Given the description of an element on the screen output the (x, y) to click on. 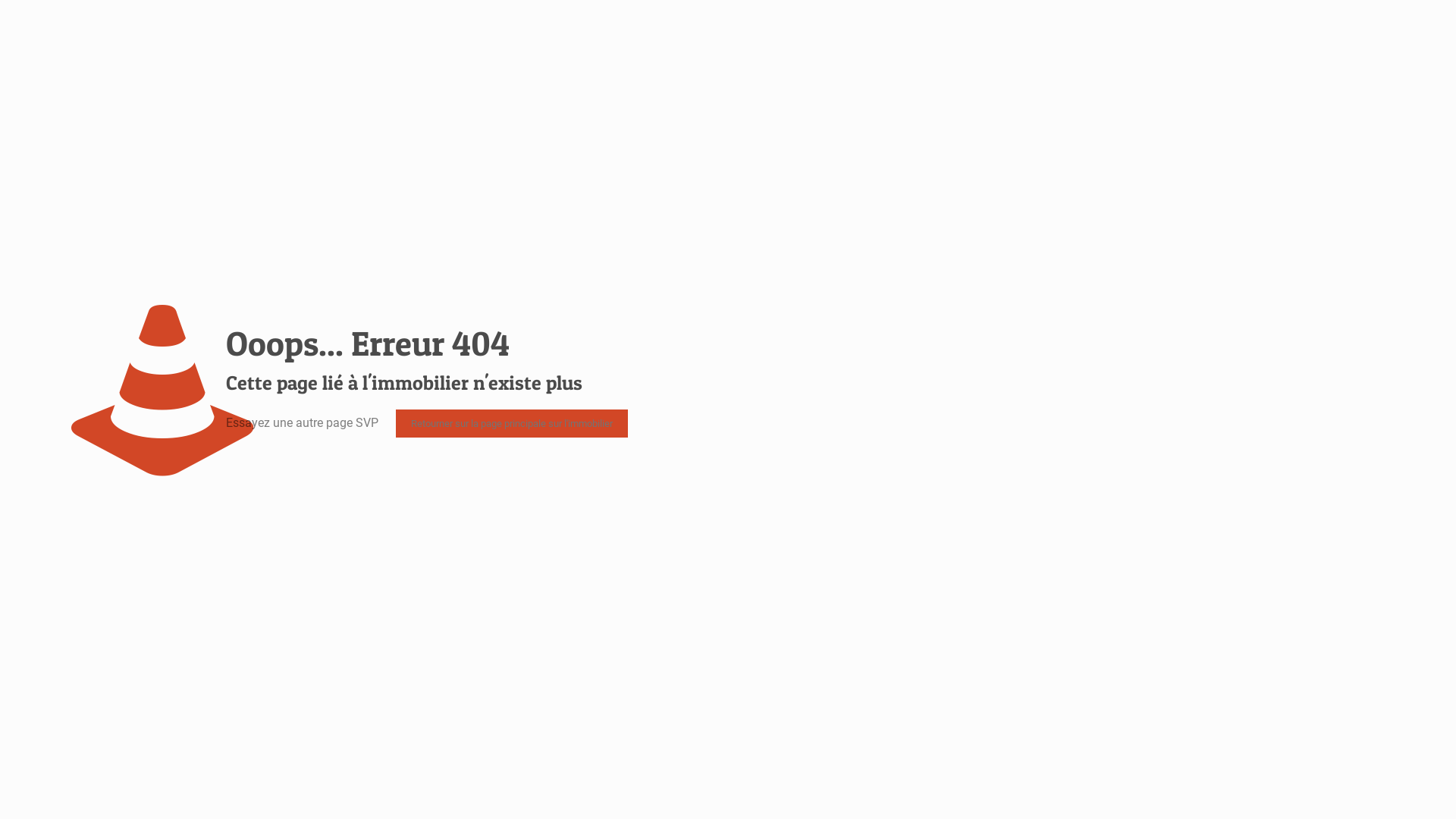
Retourner sur la page principale sur l'immobilier Element type: text (511, 423)
